Given the description of an element on the screen output the (x, y) to click on. 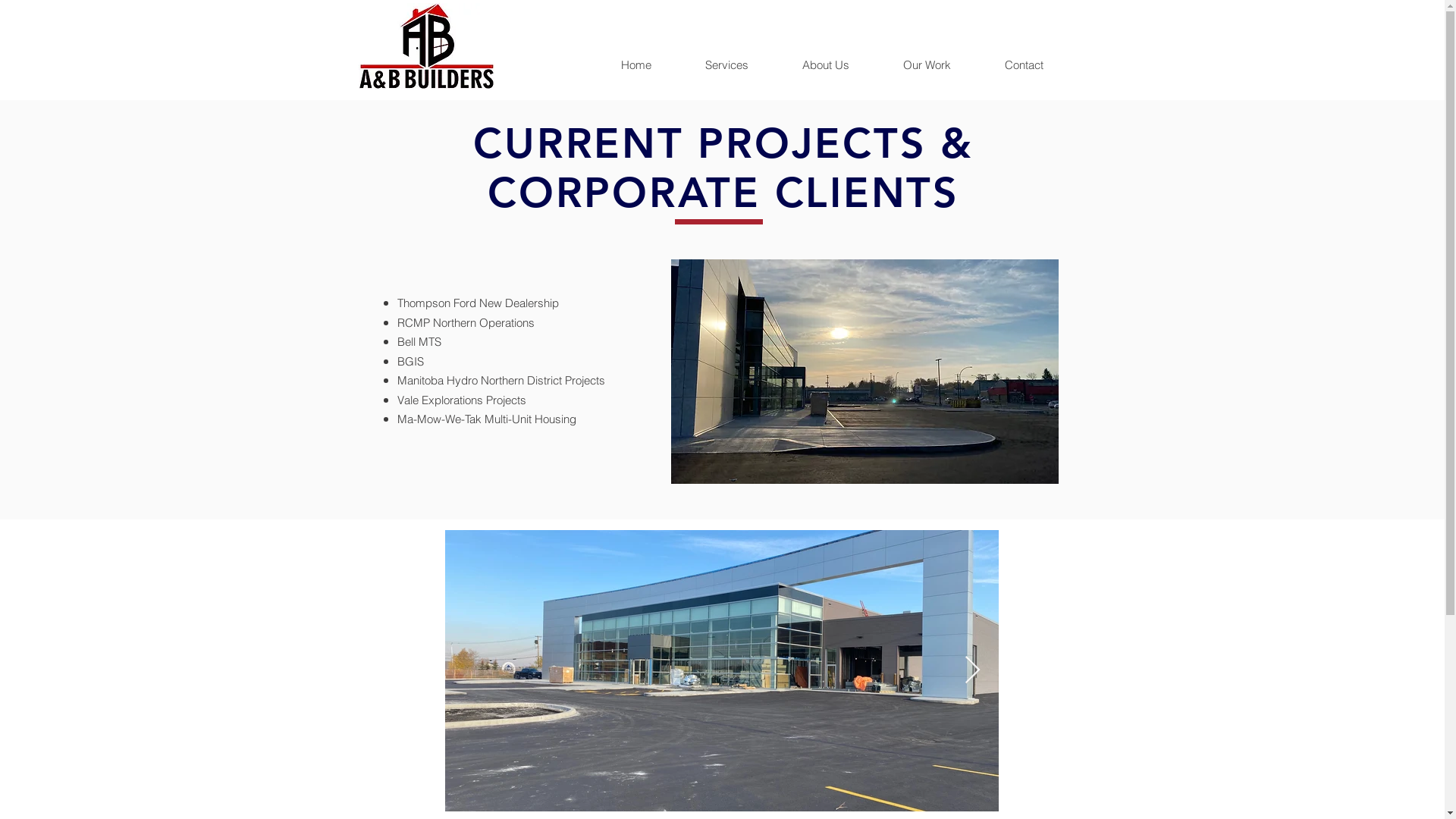
Contact Element type: text (1022, 64)
About Us Element type: text (825, 64)
Home Element type: text (635, 64)
